Given the description of an element on the screen output the (x, y) to click on. 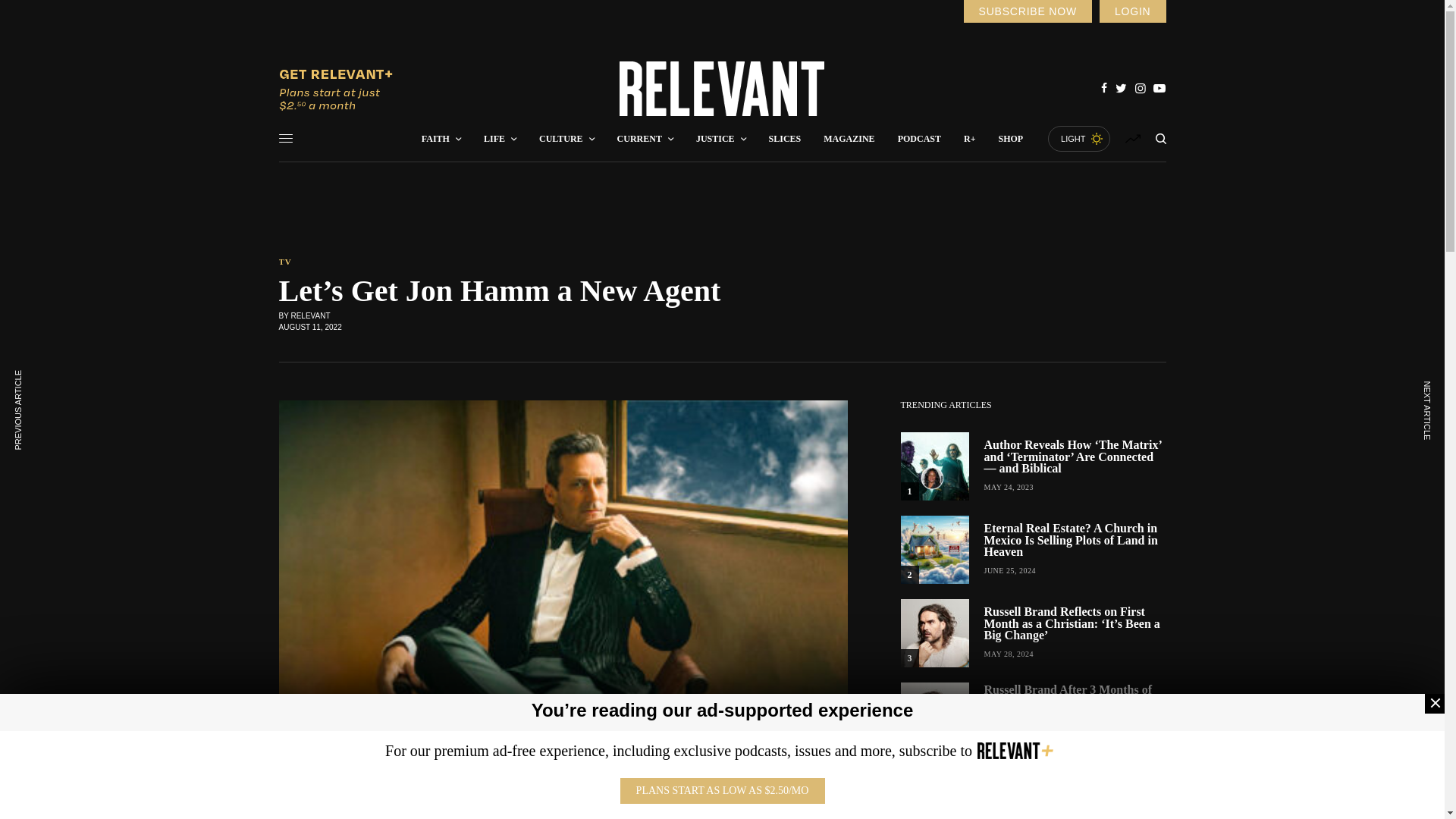
LOGIN (1132, 11)
RELEVANT (722, 88)
SUBSCRIBE NOW (1026, 11)
